Given the description of an element on the screen output the (x, y) to click on. 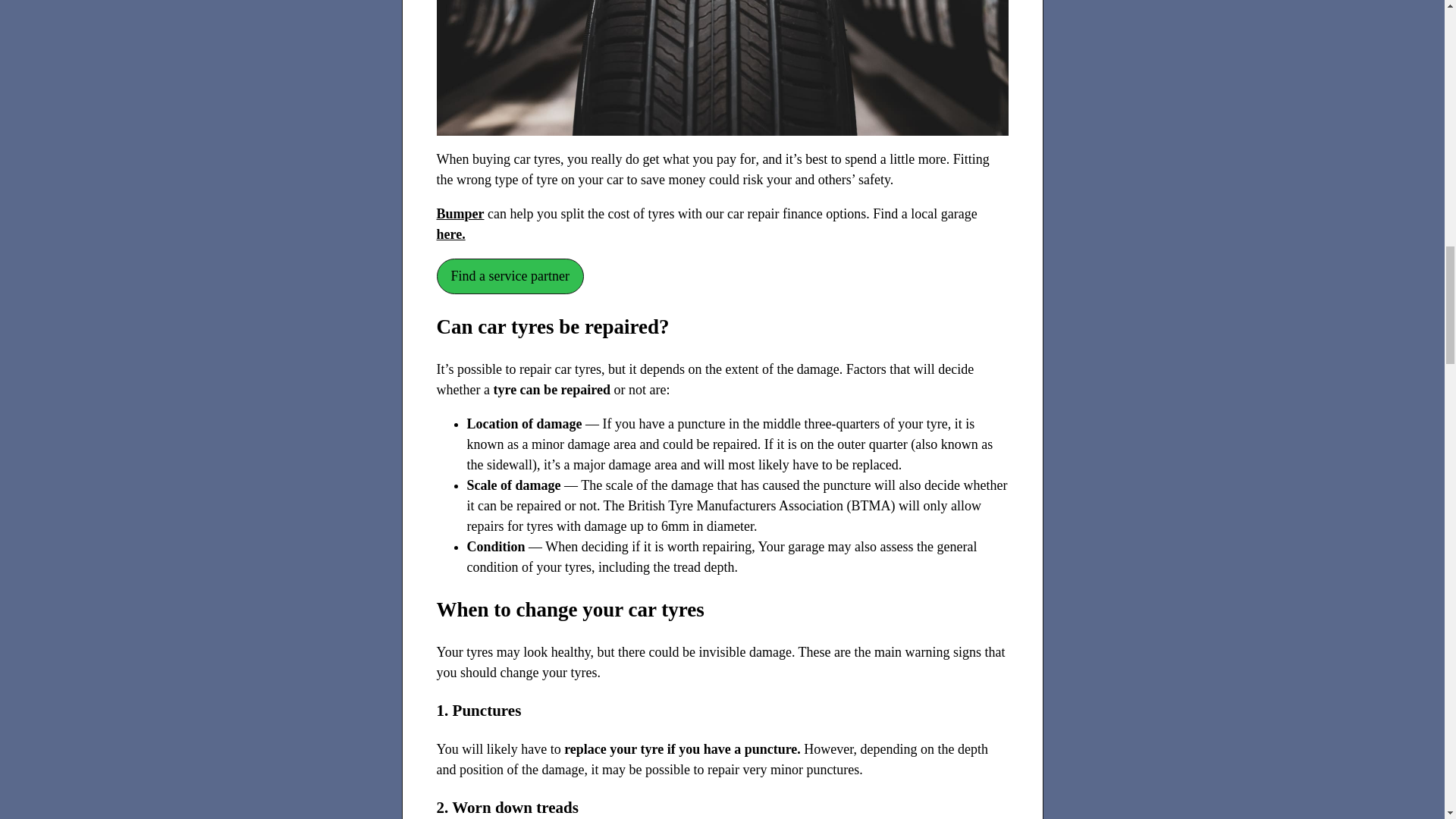
Bumper (460, 213)
Find a service partner (509, 276)
here. (450, 233)
Find a service partner (509, 275)
